Given the description of an element on the screen output the (x, y) to click on. 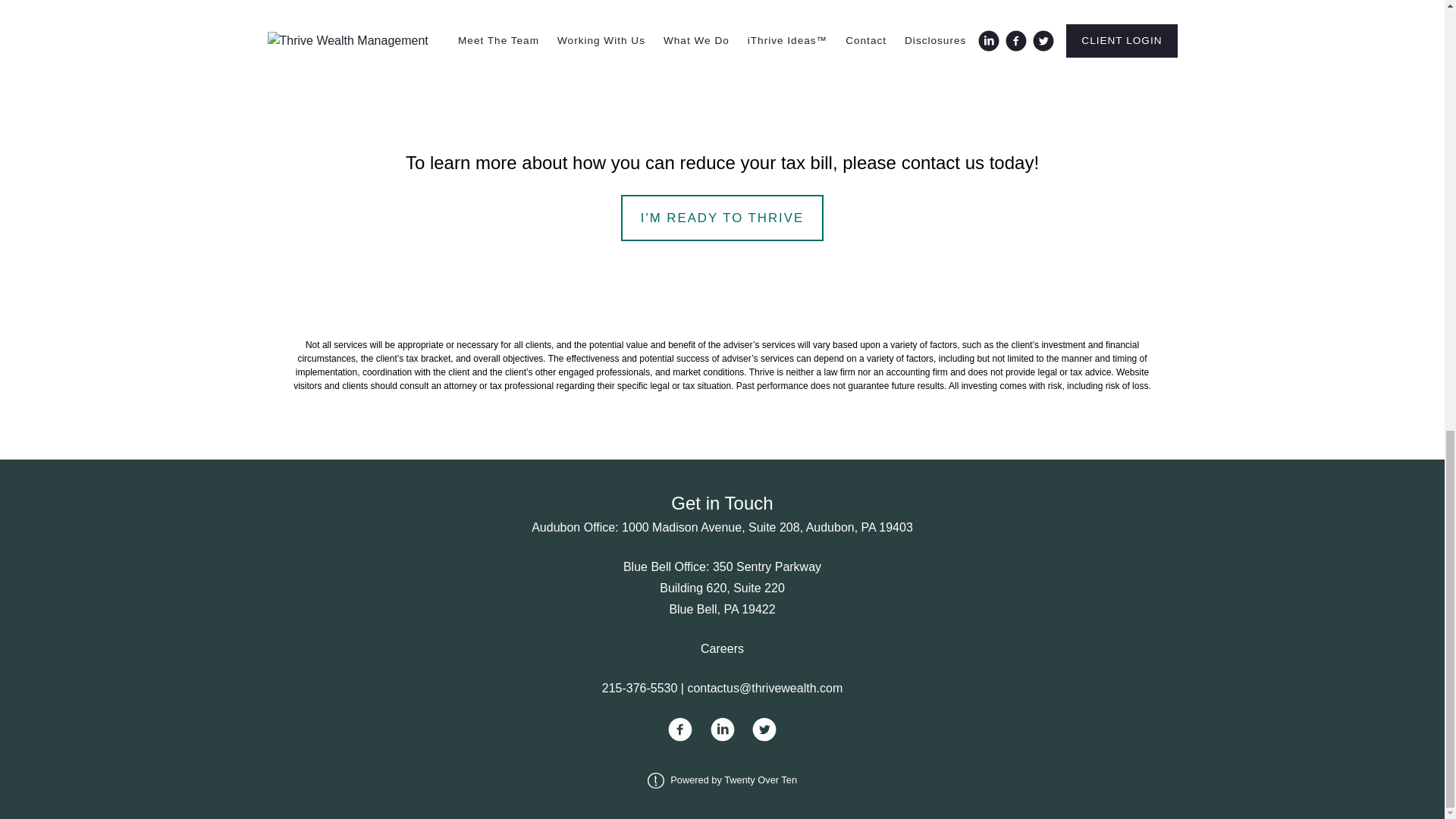
I'M READY TO THRIVE (722, 217)
Blue Bell Office (664, 566)
Powered by Twenty Over Ten (721, 779)
Careers (722, 648)
Audubon Office (572, 526)
